Given the description of an element on the screen output the (x, y) to click on. 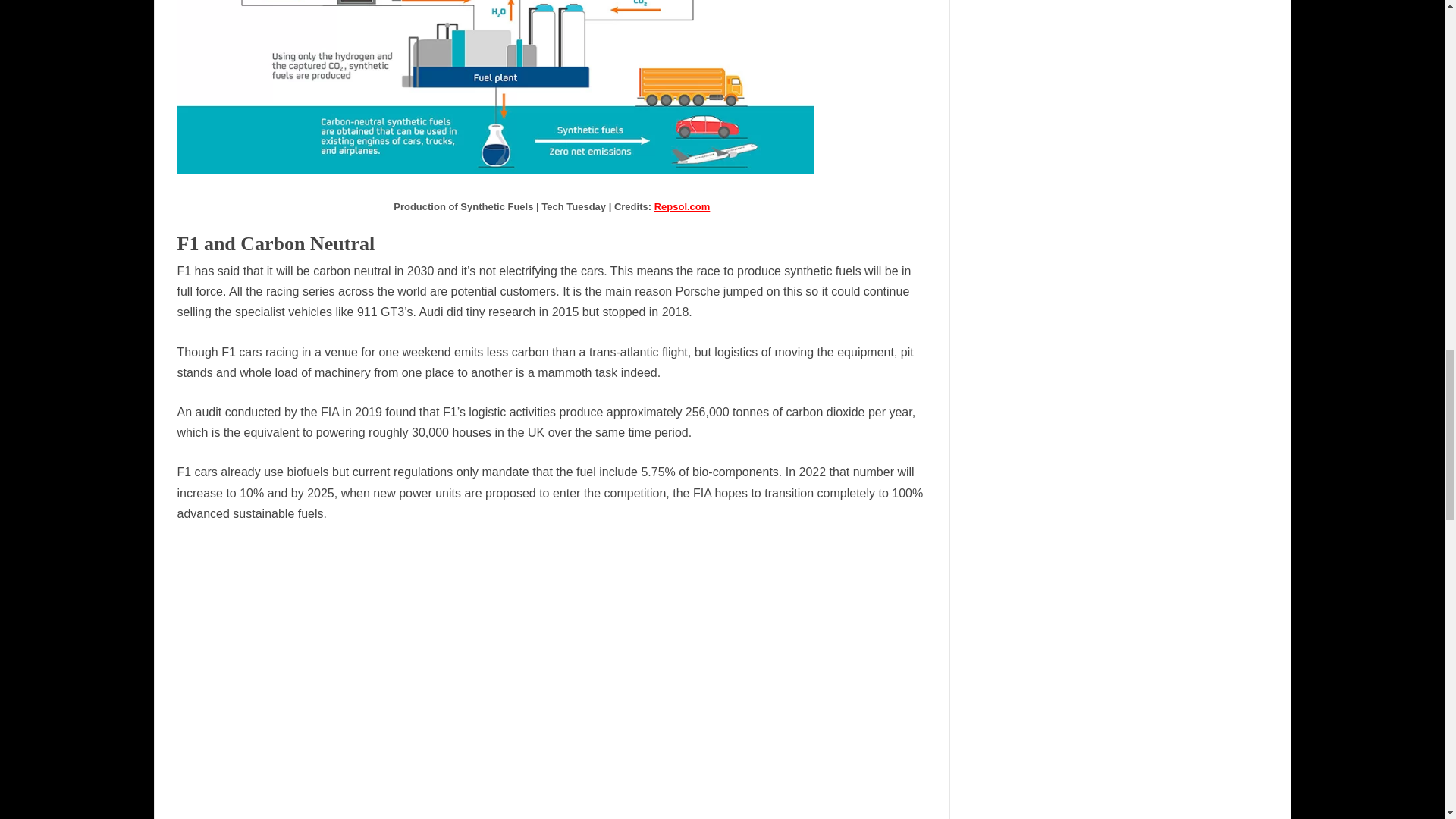
Repsol.com (681, 206)
